Given the description of an element on the screen output the (x, y) to click on. 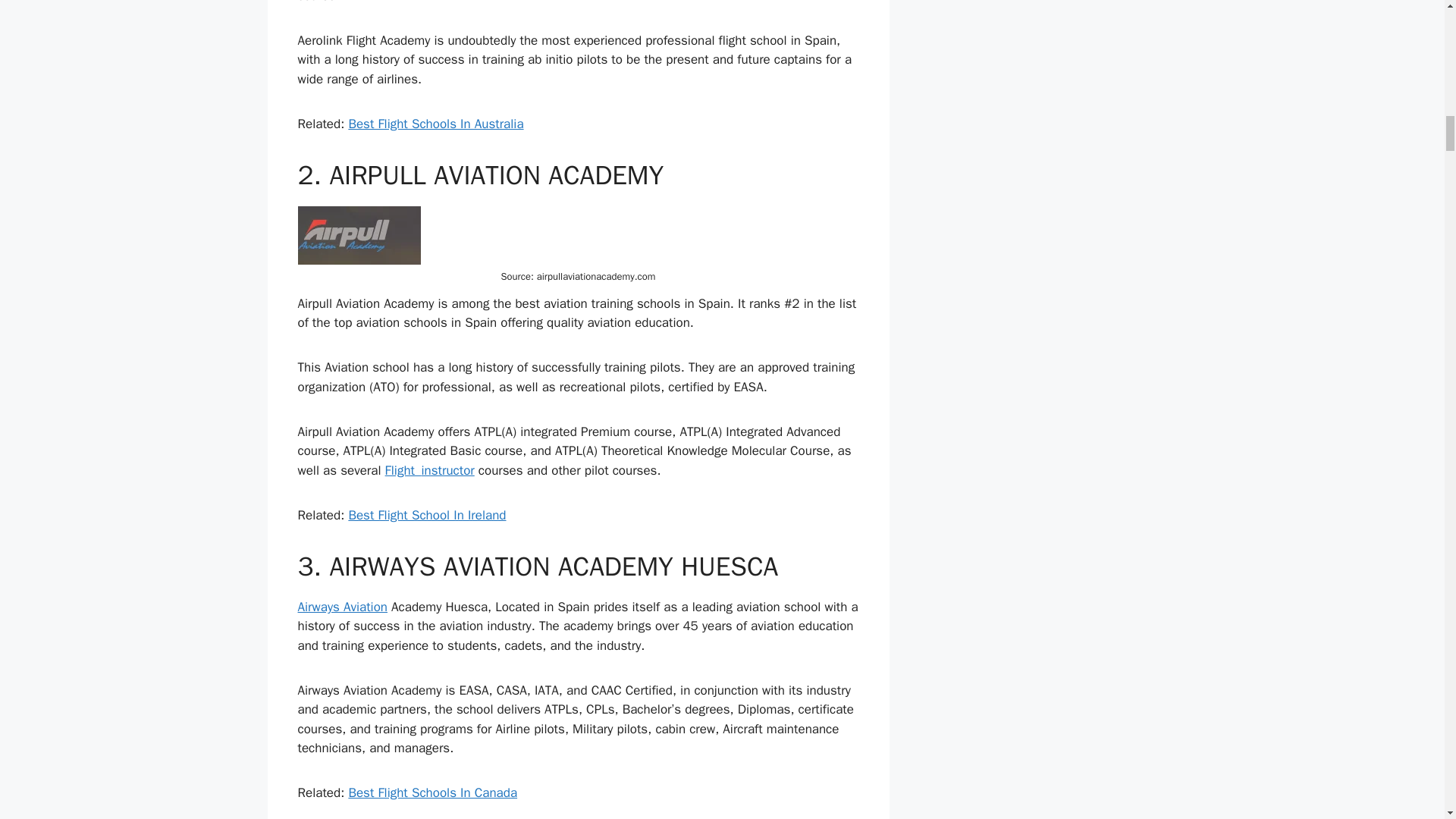
Best Flight Schools In Australia (434, 123)
Best Flight School In Ireland (426, 514)
